Given the description of an element on the screen output the (x, y) to click on. 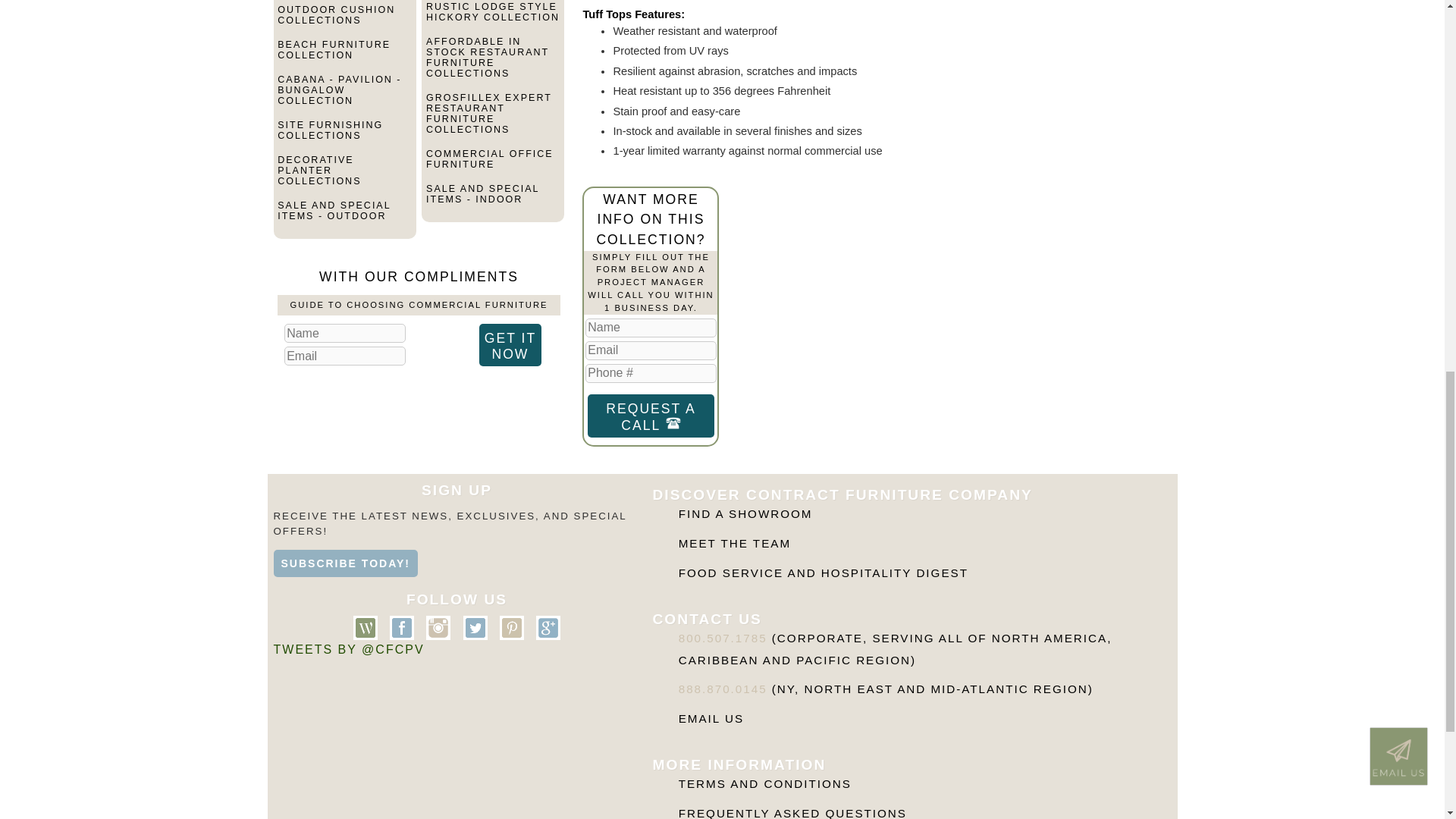
DECORATIVE PLANTER COLLECTIONS (345, 176)
WOOD COMPOSITE FURNITURE COLLECTION (345, 2)
SITE FURNISHING COLLECTIONS (345, 136)
SALE AND SPECIAL ITEMS - OUTDOOR (345, 216)
CABANA - PAVILION - BUNGALOW COLLECTION (345, 96)
BEACH FURNITURE COLLECTION (345, 56)
OUTDOOR CUSHION COLLECTIONS (345, 21)
